Given the description of an element on the screen output the (x, y) to click on. 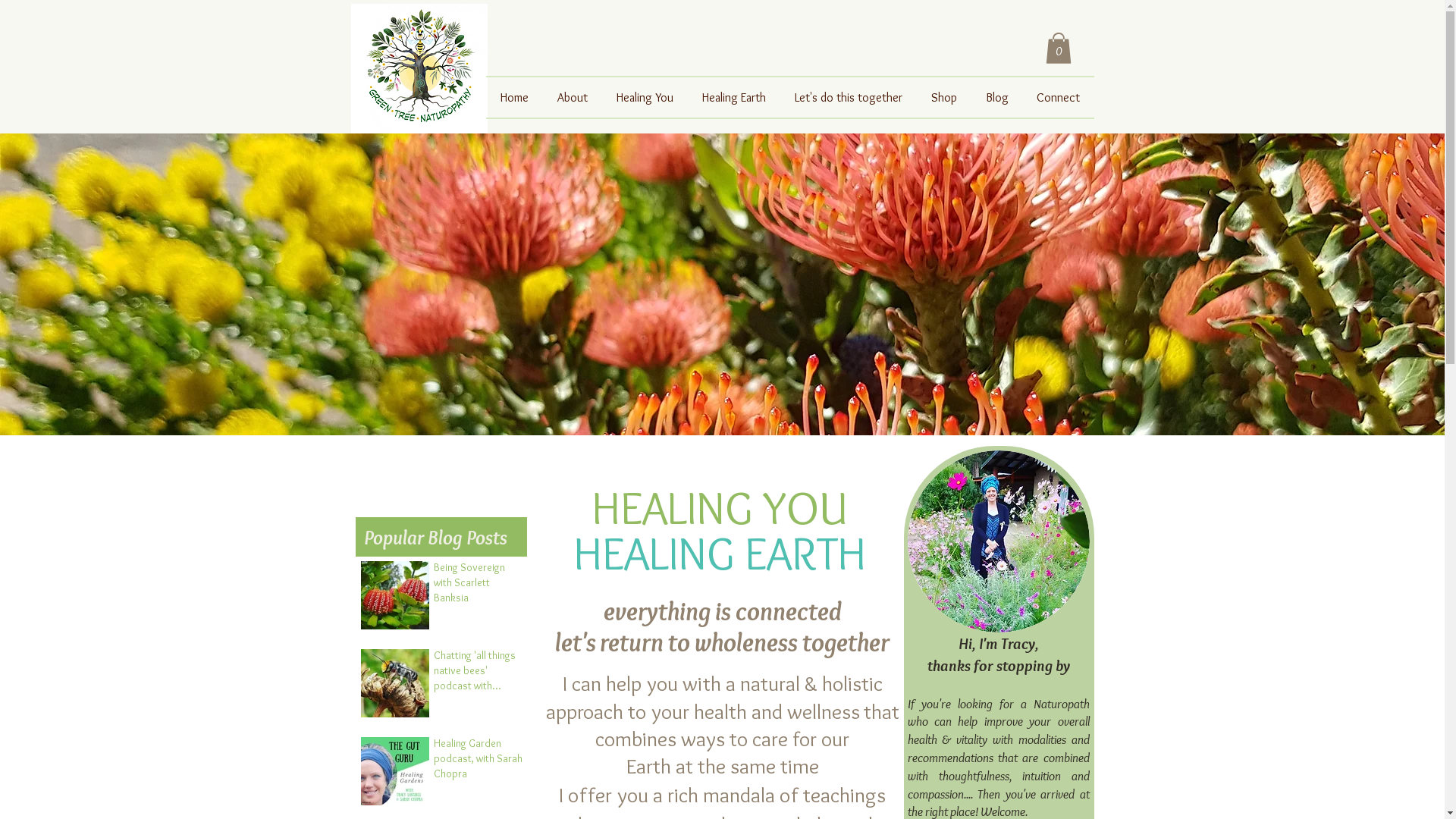
Connect Element type: text (1057, 97)
Popular Blog Posts Element type: text (435, 537)
About Element type: text (572, 97)
0 Element type: text (1057, 47)
Healing Garden podcast, with Sarah Chopra Element type: text (478, 761)
Blog Element type: text (996, 97)
Being Sovereign with Scarlett Banksia Element type: text (478, 585)
Chatting 'all things native bees' podcast with Sabrina Hahn Element type: text (478, 673)
Home Element type: text (513, 97)
Shop Element type: text (943, 97)
